Given the description of an element on the screen output the (x, y) to click on. 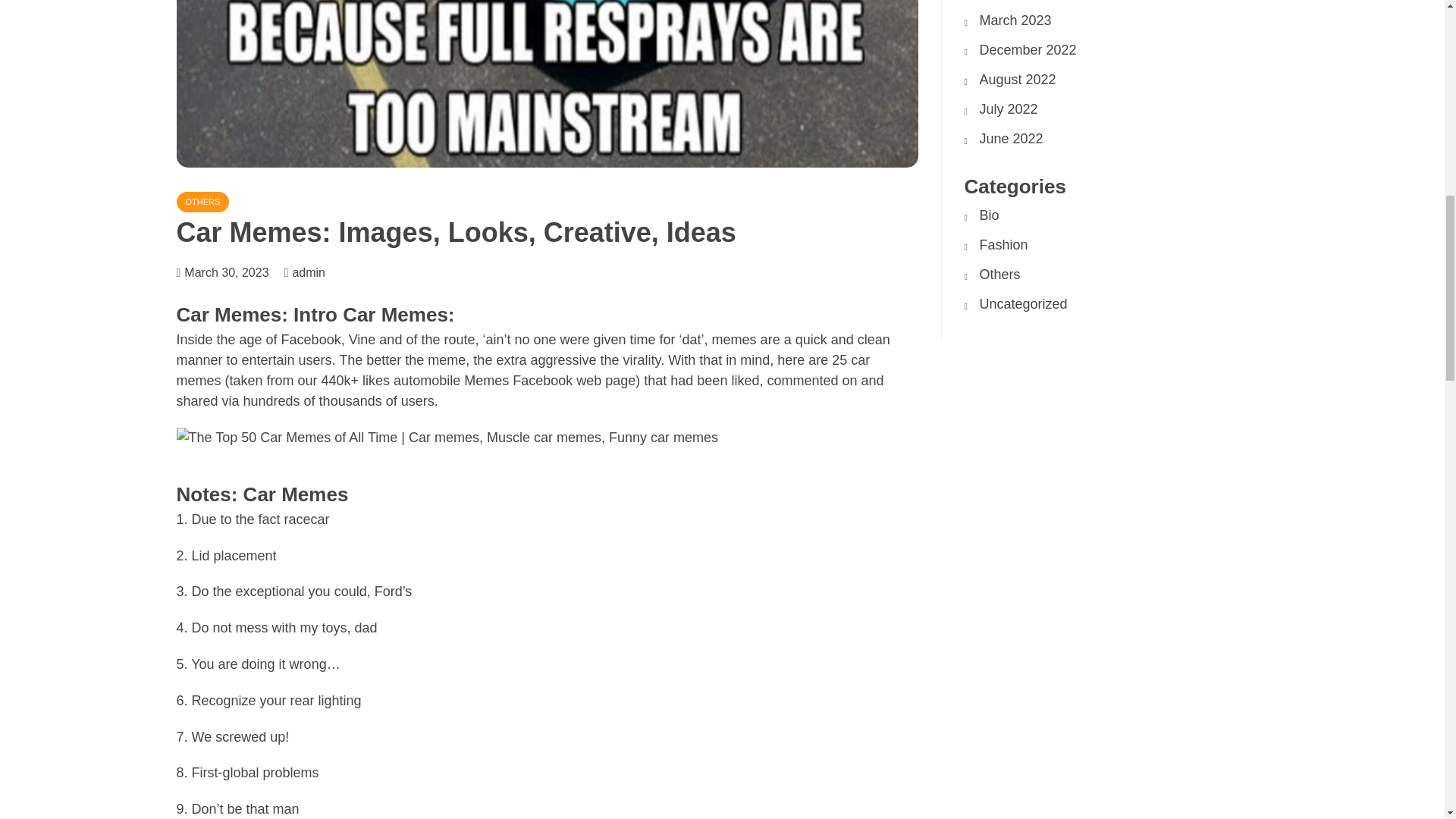
admin (316, 272)
March 30, 2023 (225, 272)
OTHERS (202, 201)
